Given the description of an element on the screen output the (x, y) to click on. 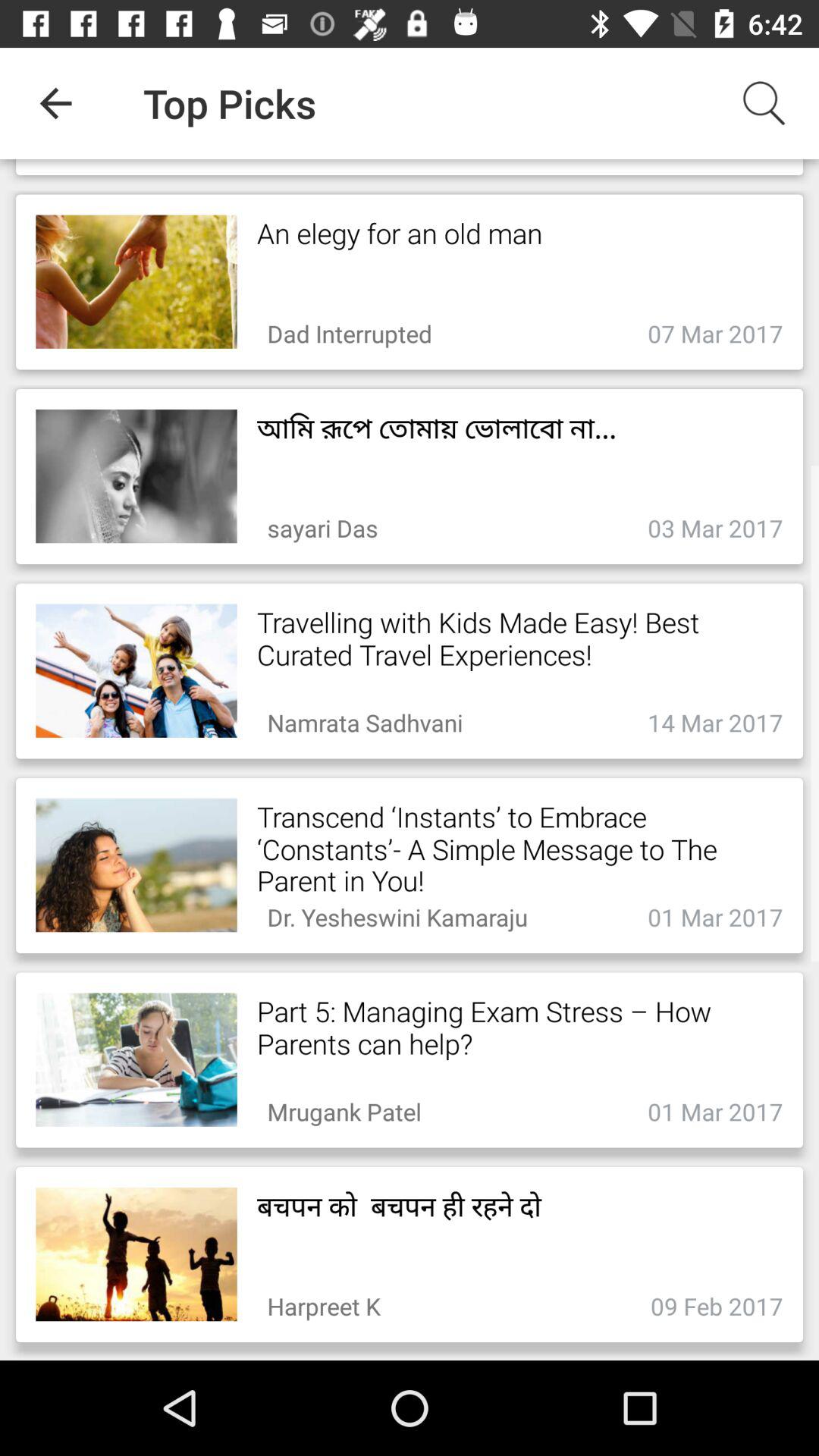
click item to the left of 01 mar 2017 item (344, 1107)
